Given the description of an element on the screen output the (x, y) to click on. 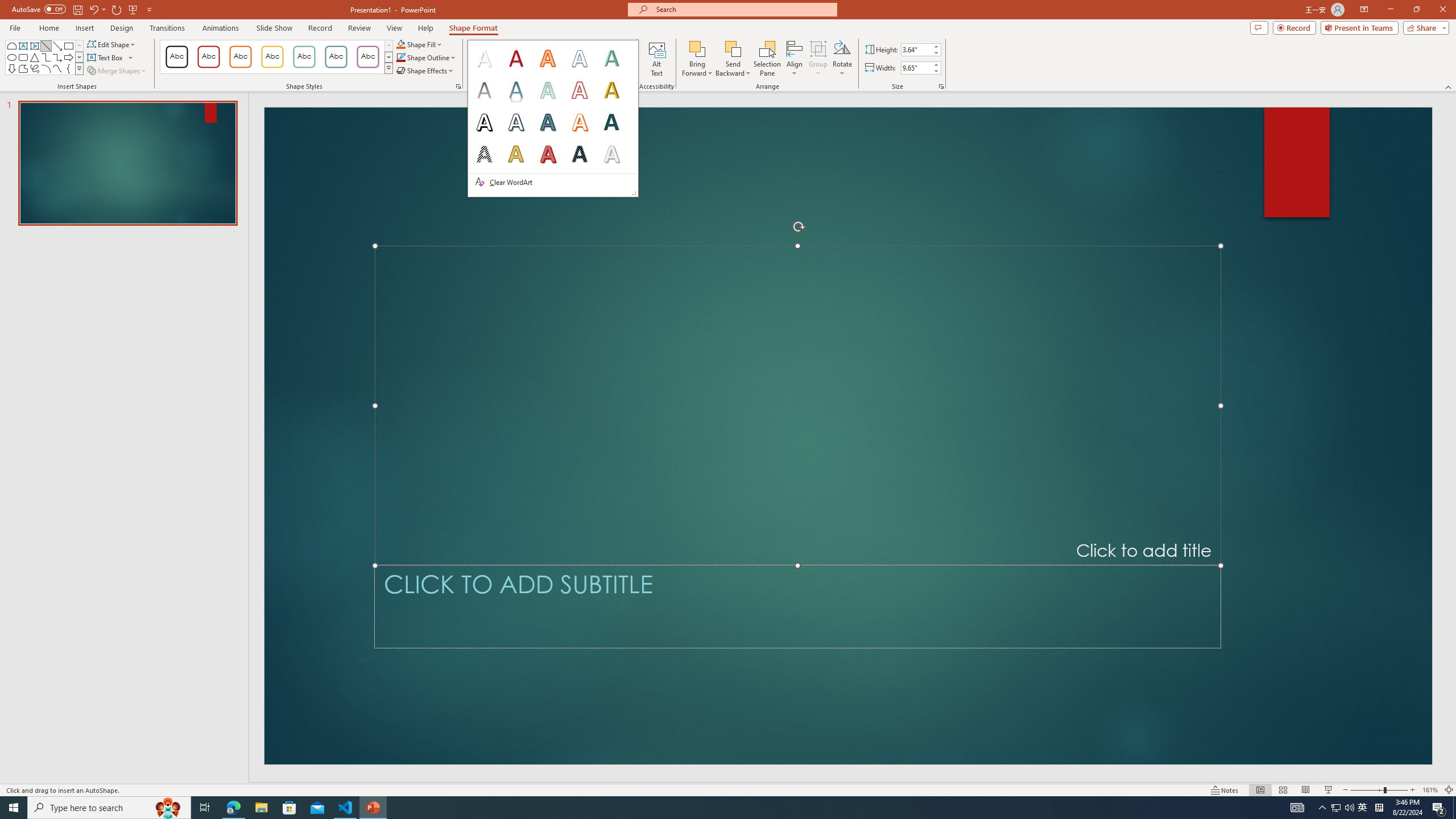
Send Backward (733, 58)
Running applications (707, 807)
Rotate (841, 58)
Size and Position... (941, 85)
